Given the description of an element on the screen output the (x, y) to click on. 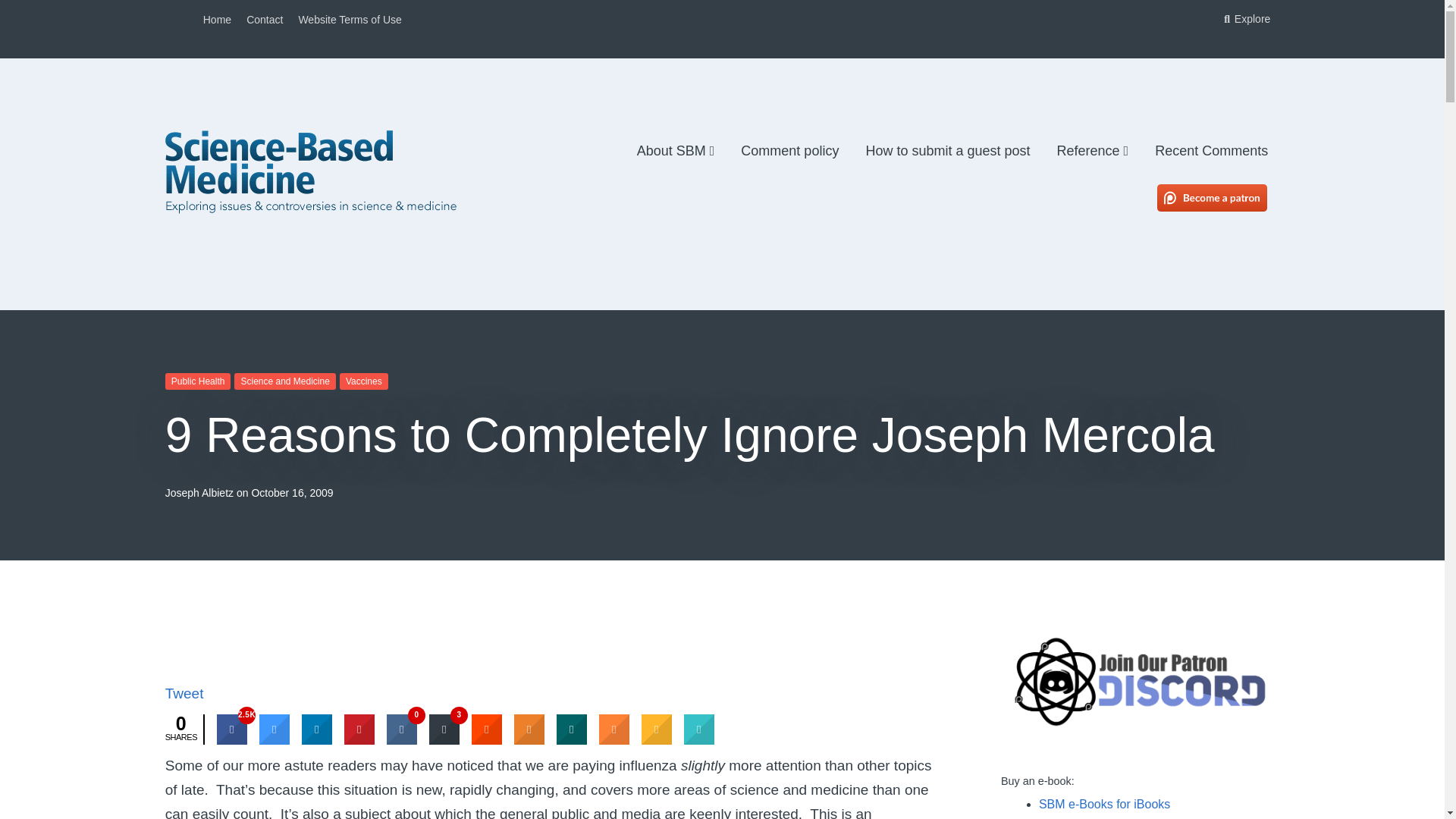
Website Terms of Use (349, 19)
Contact (264, 19)
